Given the description of an element on the screen output the (x, y) to click on. 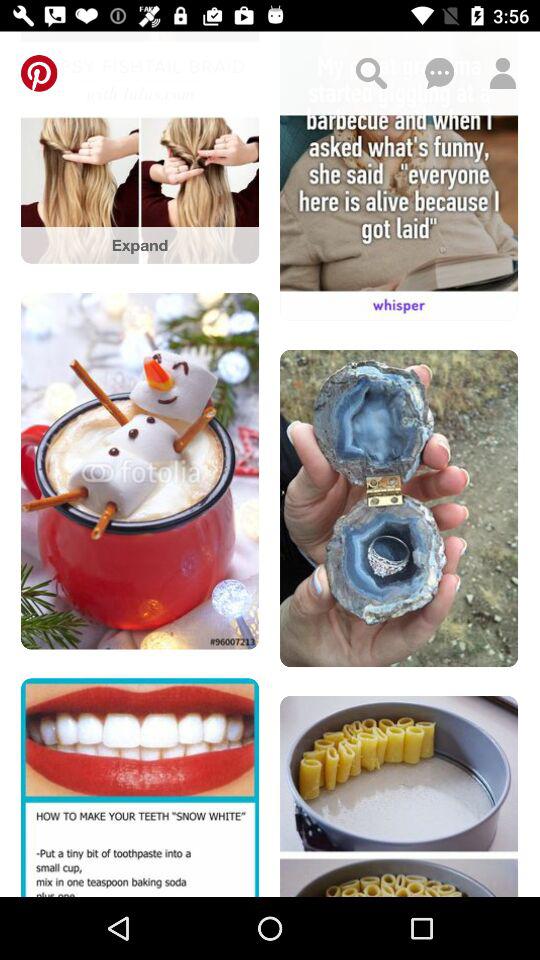
go to search (371, 73)
